Given the description of an element on the screen output the (x, y) to click on. 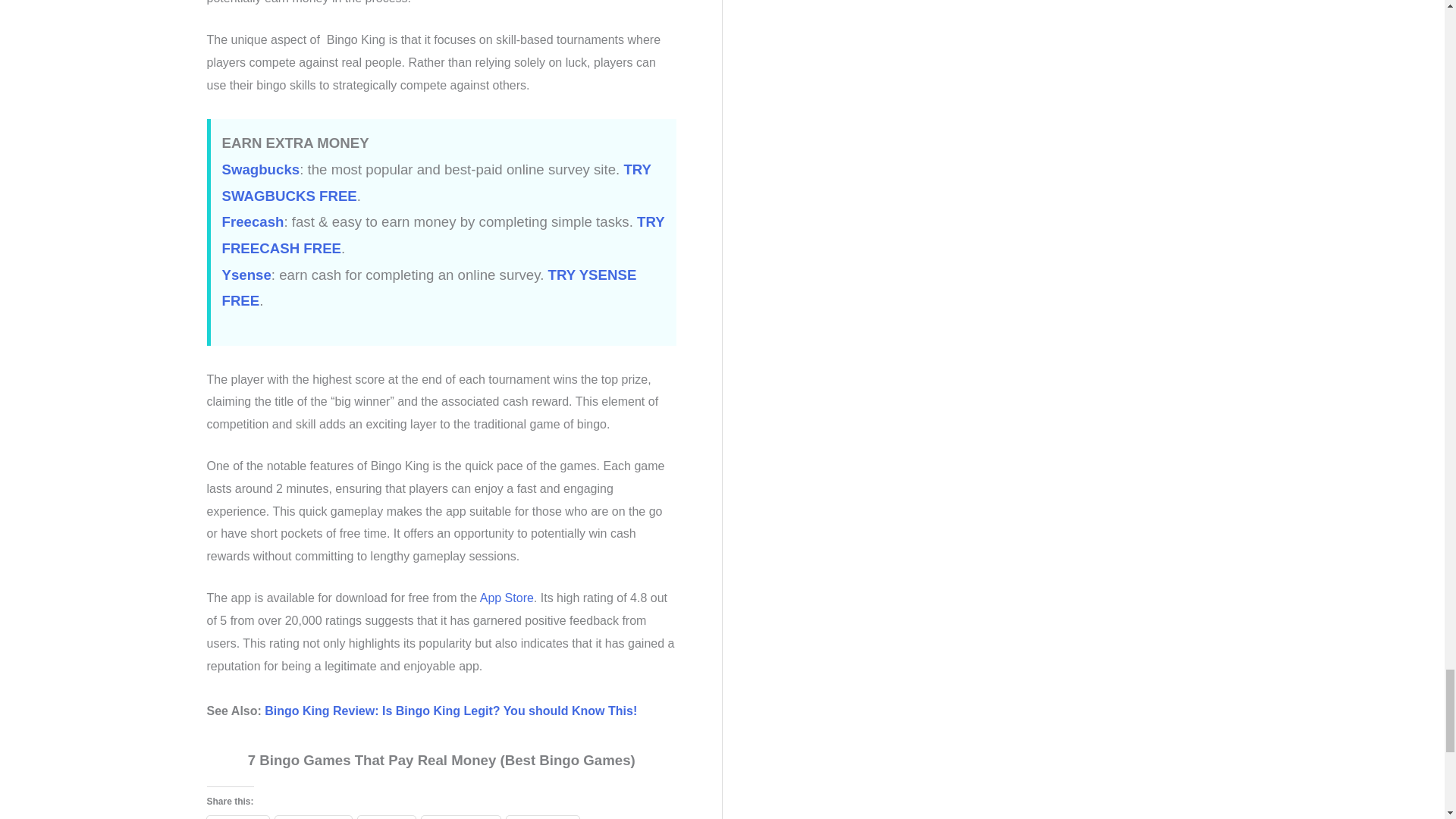
Click to share on Twitter (236, 817)
Click to share on WhatsApp (461, 817)
Click to email a link to a friend (387, 817)
Click to share on Facebook (313, 817)
Click to share on Pinterest (542, 817)
